Given the description of an element on the screen output the (x, y) to click on. 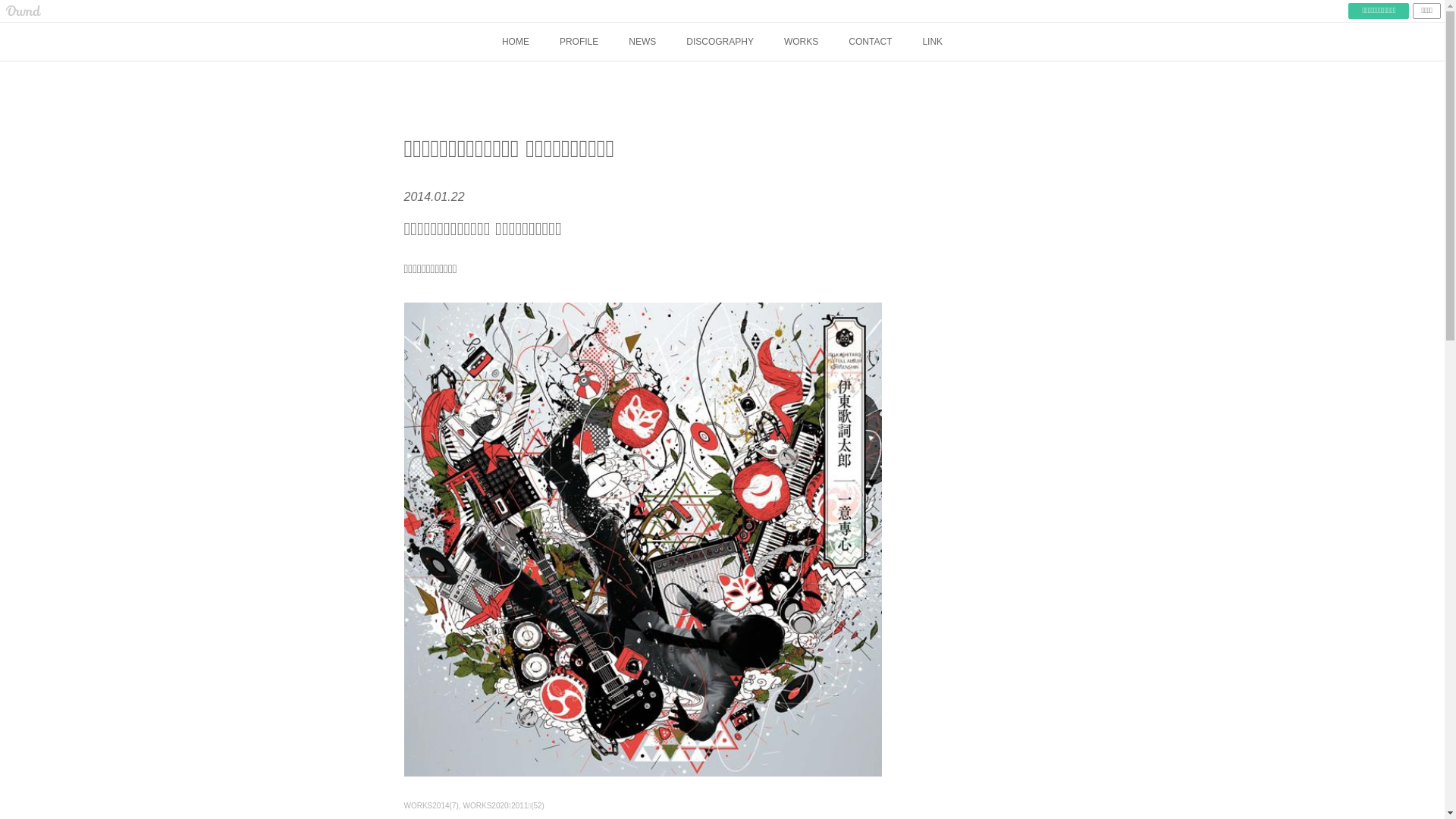
WORKS2014(7) Element type: text (432, 805)
NEWS Element type: text (642, 41)
CONTACT Element type: text (869, 41)
HOME Element type: text (515, 41)
LINK Element type: text (931, 41)
WORKS Element type: text (800, 41)
DISCOGRAPHY Element type: text (719, 41)
PROFILE Element type: text (578, 41)
